Given the description of an element on the screen output the (x, y) to click on. 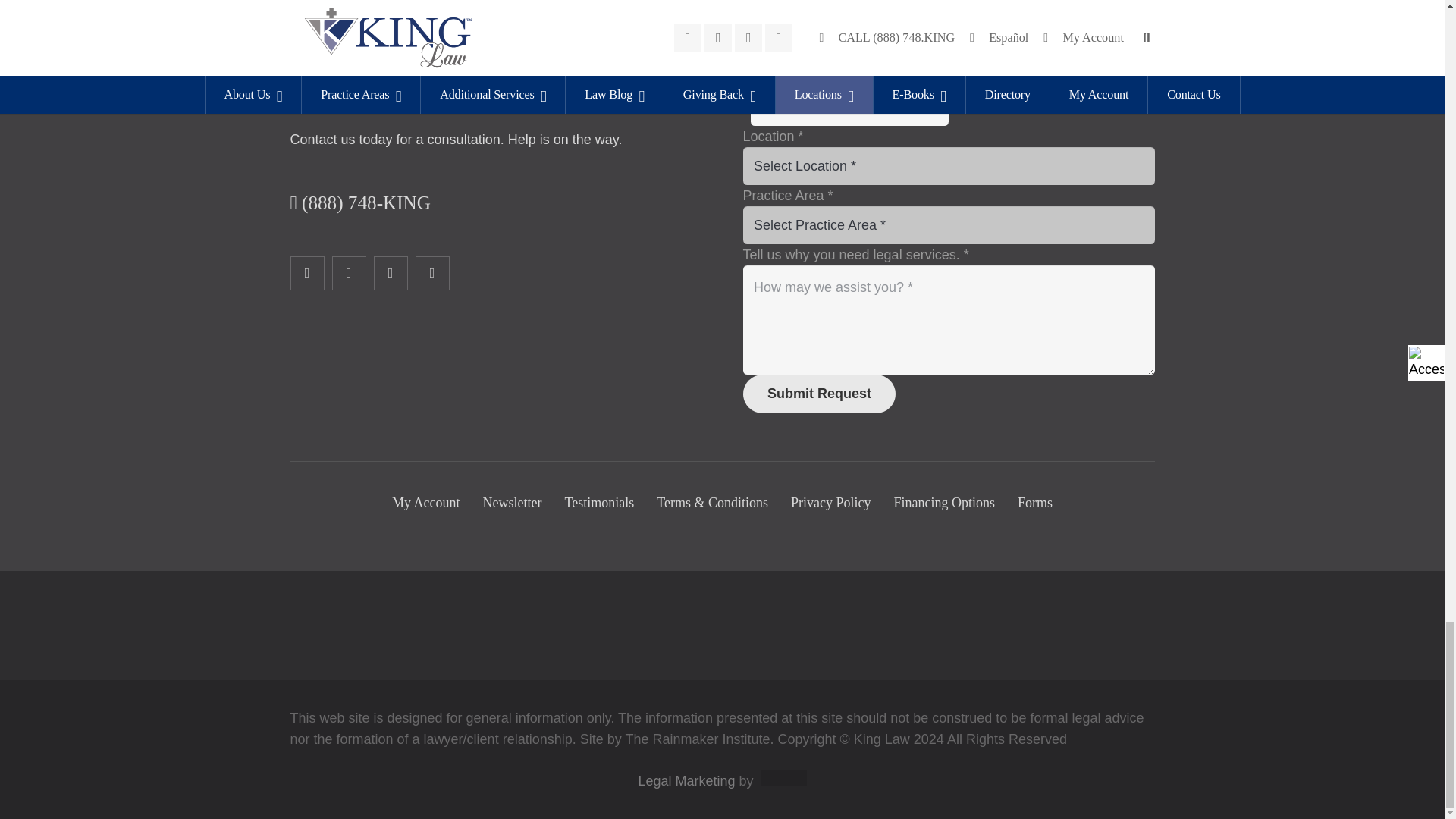
YouTube (431, 273)
Twitter (348, 273)
Facebook (306, 273)
LinkedIn (389, 273)
